Given the description of an element on the screen output the (x, y) to click on. 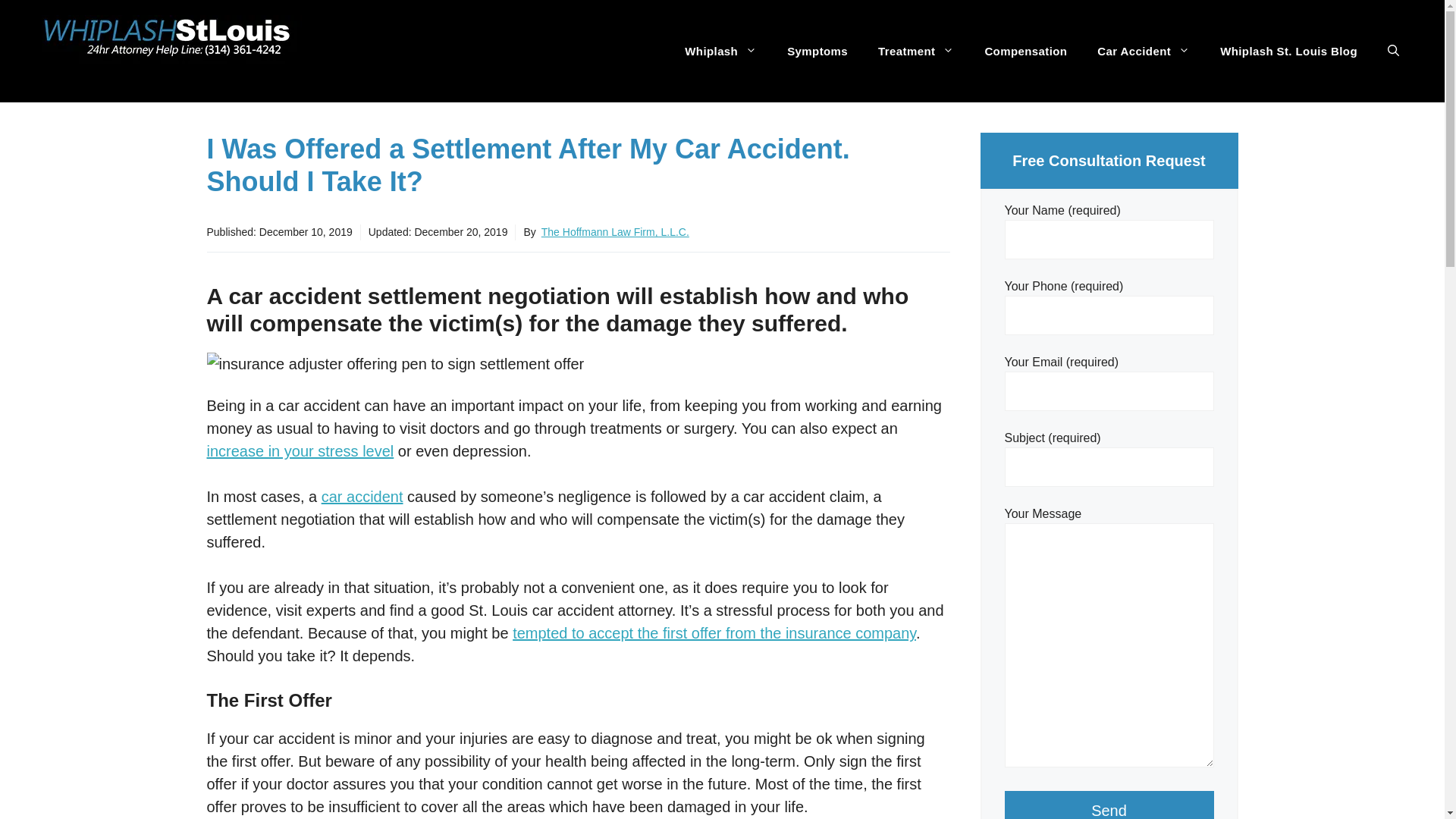
Send (1108, 805)
Car Accident (1143, 51)
Whiplash St. Louis Blog (1289, 51)
Symptoms (817, 51)
Compensation (1025, 51)
Whiplash (720, 51)
Treatment (916, 51)
